Given the description of an element on the screen output the (x, y) to click on. 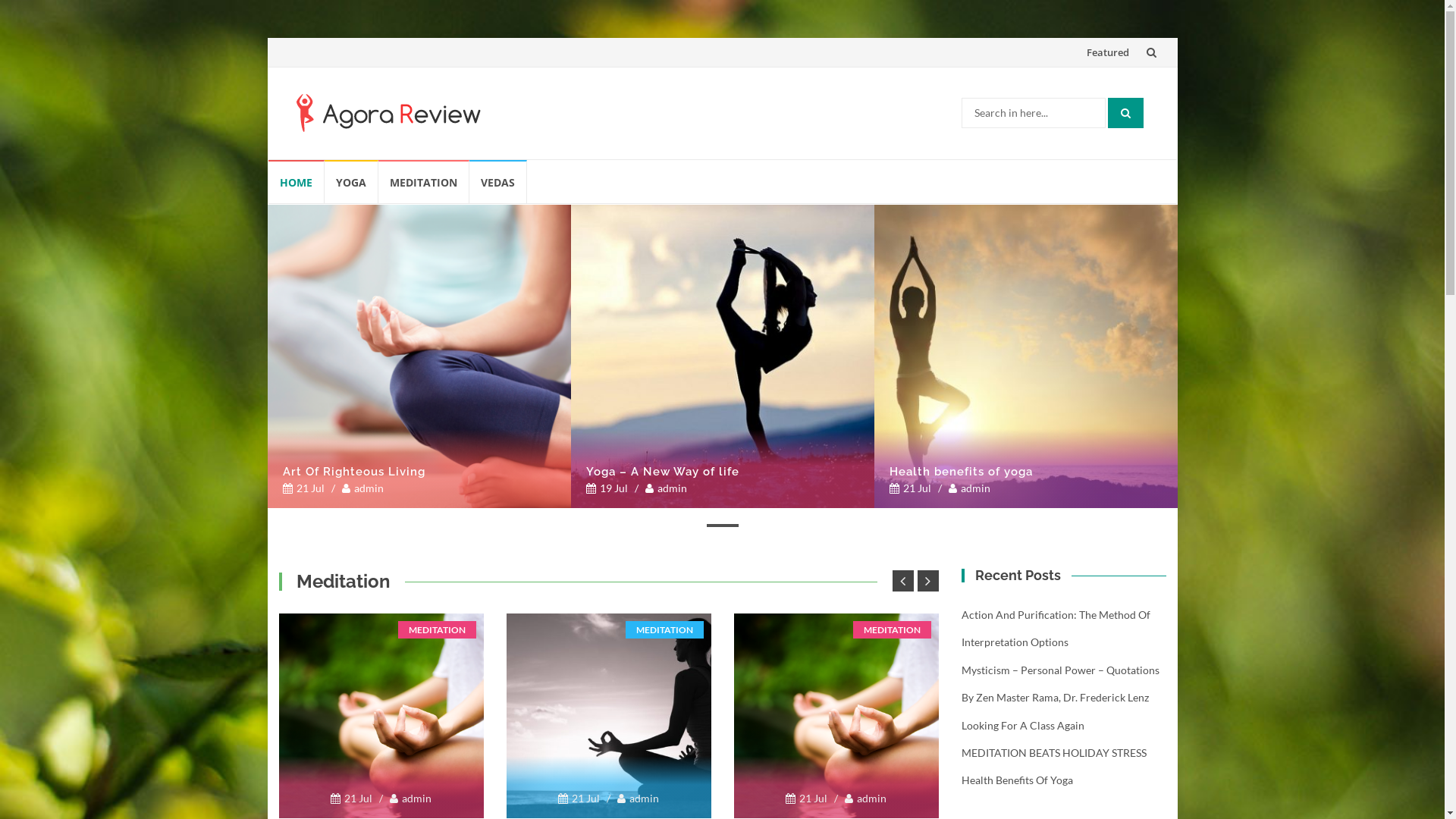
MEDITATION Element type: text (422, 181)
Art Of Righteous Living Element type: hover (418, 356)
MEDITATION BEATS HOLIDAY STRESS Element type: hover (836, 715)
admin Element type: text (410, 797)
admin Element type: text (865, 797)
Looking For A Class Again Element type: text (1022, 724)
Health benefits of yoga Element type: text (1024, 471)
MEDITATION Element type: text (436, 629)
Art Of Righteous Living Element type: text (418, 471)
admin Element type: text (637, 797)
Search Element type: hover (1124, 112)
Featured Element type: text (1106, 52)
Skip to content Element type: text (1078, 37)
admin Element type: text (665, 487)
HOME Element type: text (296, 181)
VEDAS Element type: text (497, 181)
Health benefits of yoga Element type: hover (1024, 356)
MEDITATION BEATS HOLIDAY STRESS Element type: hover (381, 715)
Search for: Element type: hover (1033, 112)
MEDITATION BEATS HOLIDAY STRESS Element type: text (1053, 752)
MEDITATION Element type: text (663, 629)
MEDITATION Element type: text (891, 629)
admin Element type: text (968, 487)
Health Benefits Of Yoga Element type: text (1017, 779)
YOGA Element type: text (351, 181)
Skip to content Element type: text (266, 159)
admin Element type: text (361, 487)
